Given the description of an element on the screen output the (x, y) to click on. 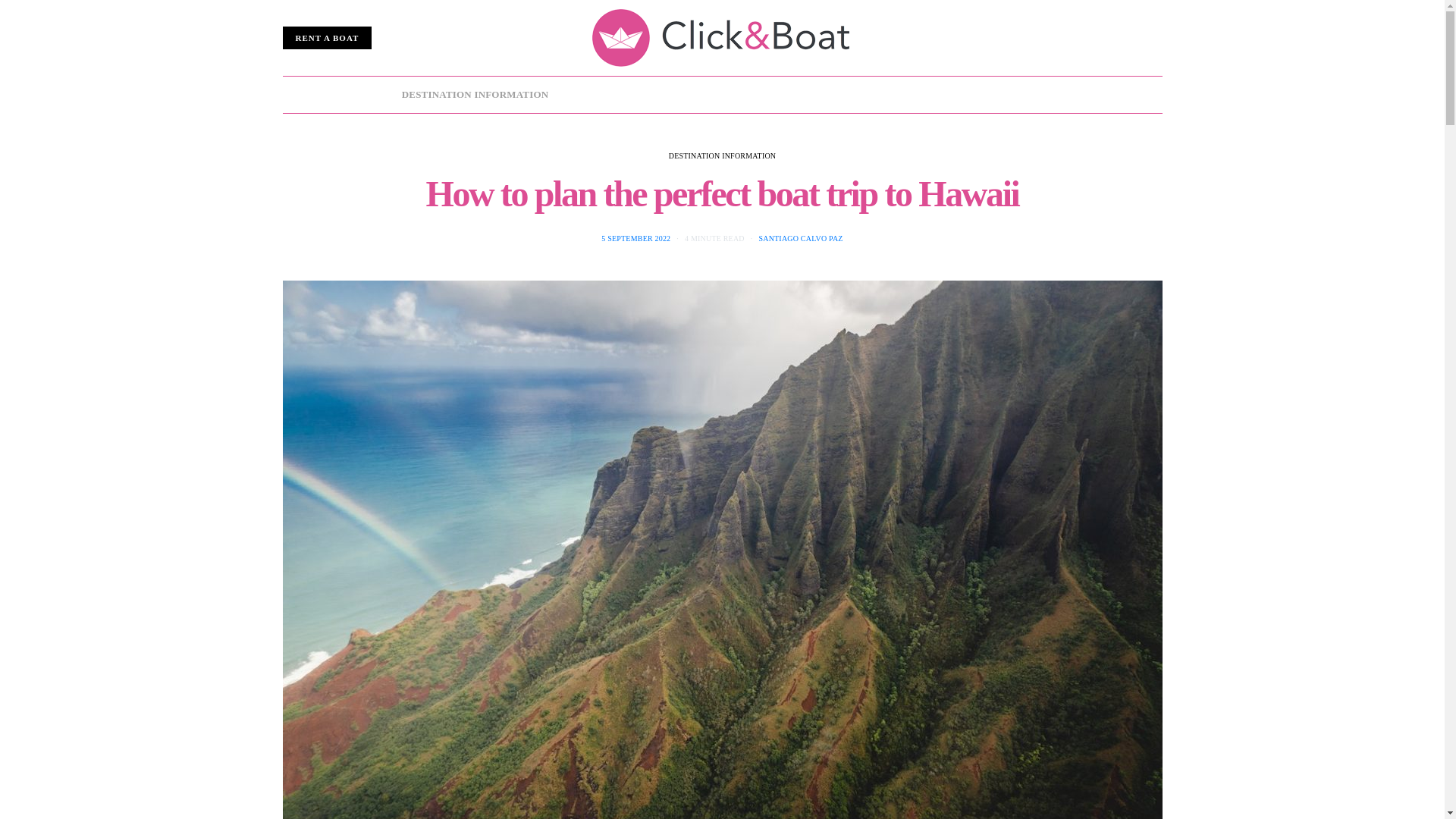
View all posts by Santiago Calvo Paz (800, 238)
SANTIAGO CALVO PAZ (800, 238)
SUSTAINABLE SAILING (968, 94)
SAILING ROUTES (615, 94)
RENT A BOAT (326, 37)
BOAT OWNERS (721, 94)
DESTINATION INFORMATION (722, 155)
5 SEPTEMBER 2022 (635, 238)
DESTINATION INFORMATION (474, 94)
